Given the description of an element on the screen output the (x, y) to click on. 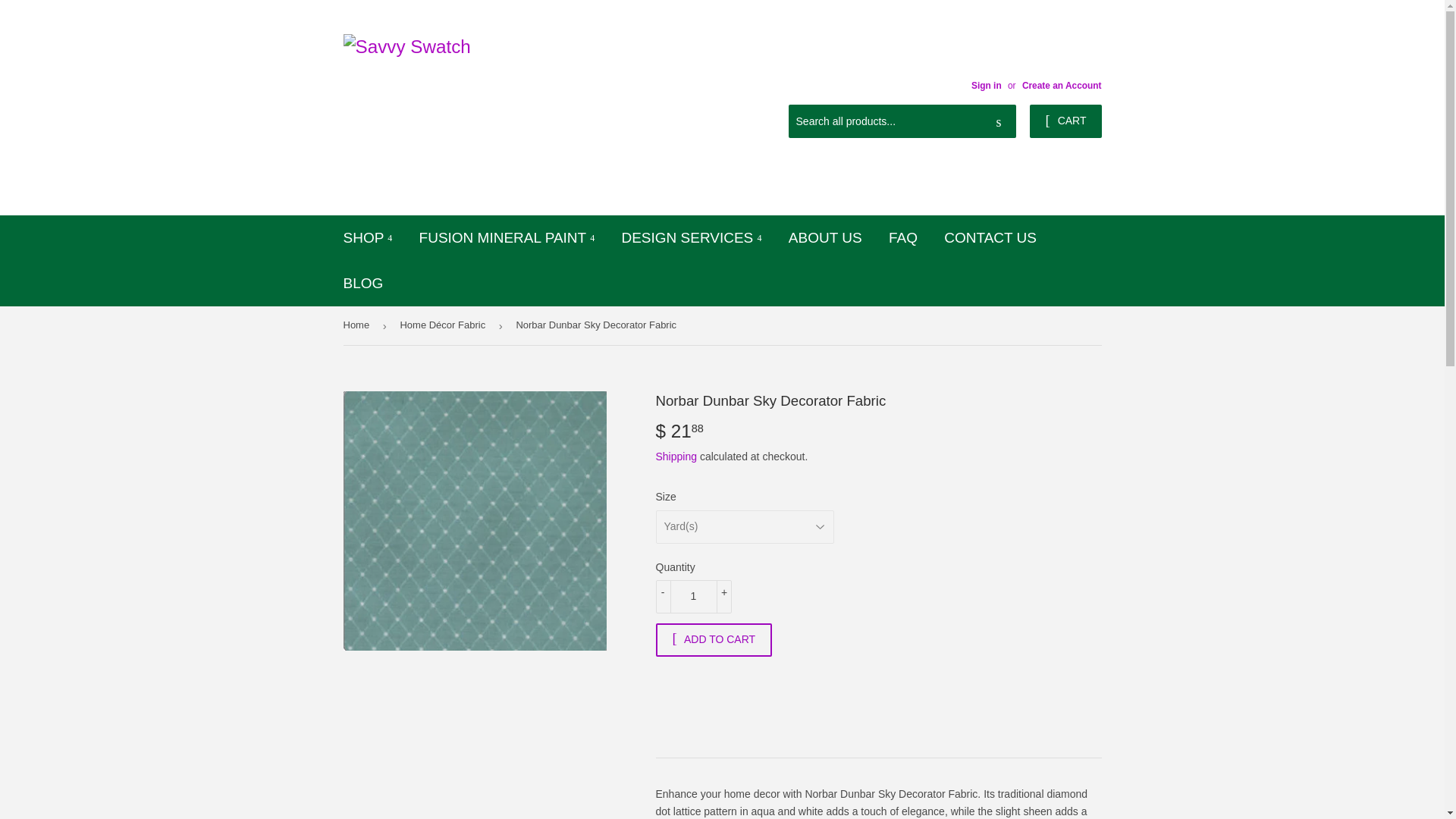
Sign in (986, 85)
Search (998, 122)
CART (1064, 121)
1 (692, 596)
Create an Account (1062, 85)
